Given the description of an element on the screen output the (x, y) to click on. 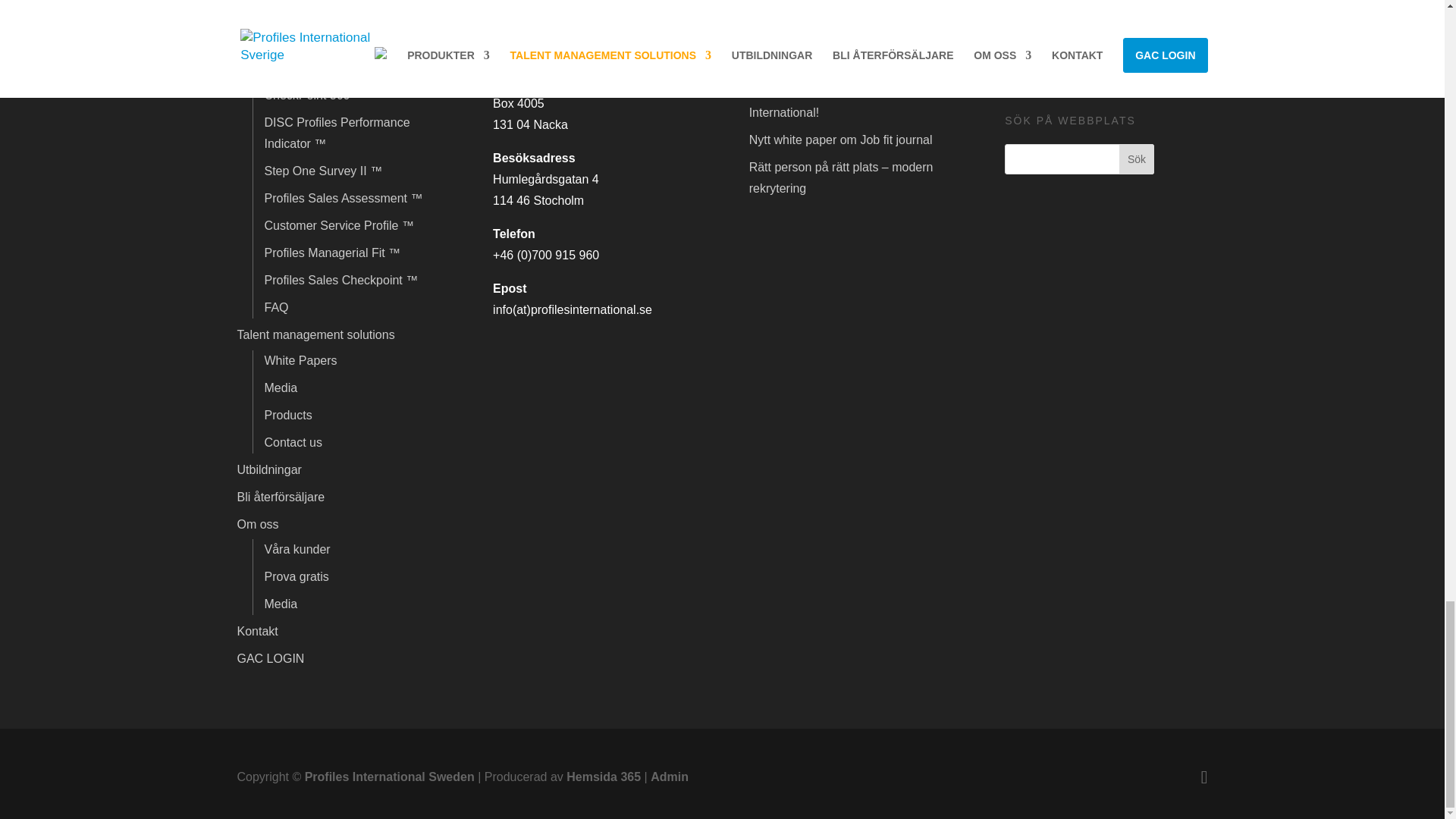
Produkter (261, 42)
